Given the description of an element on the screen output the (x, y) to click on. 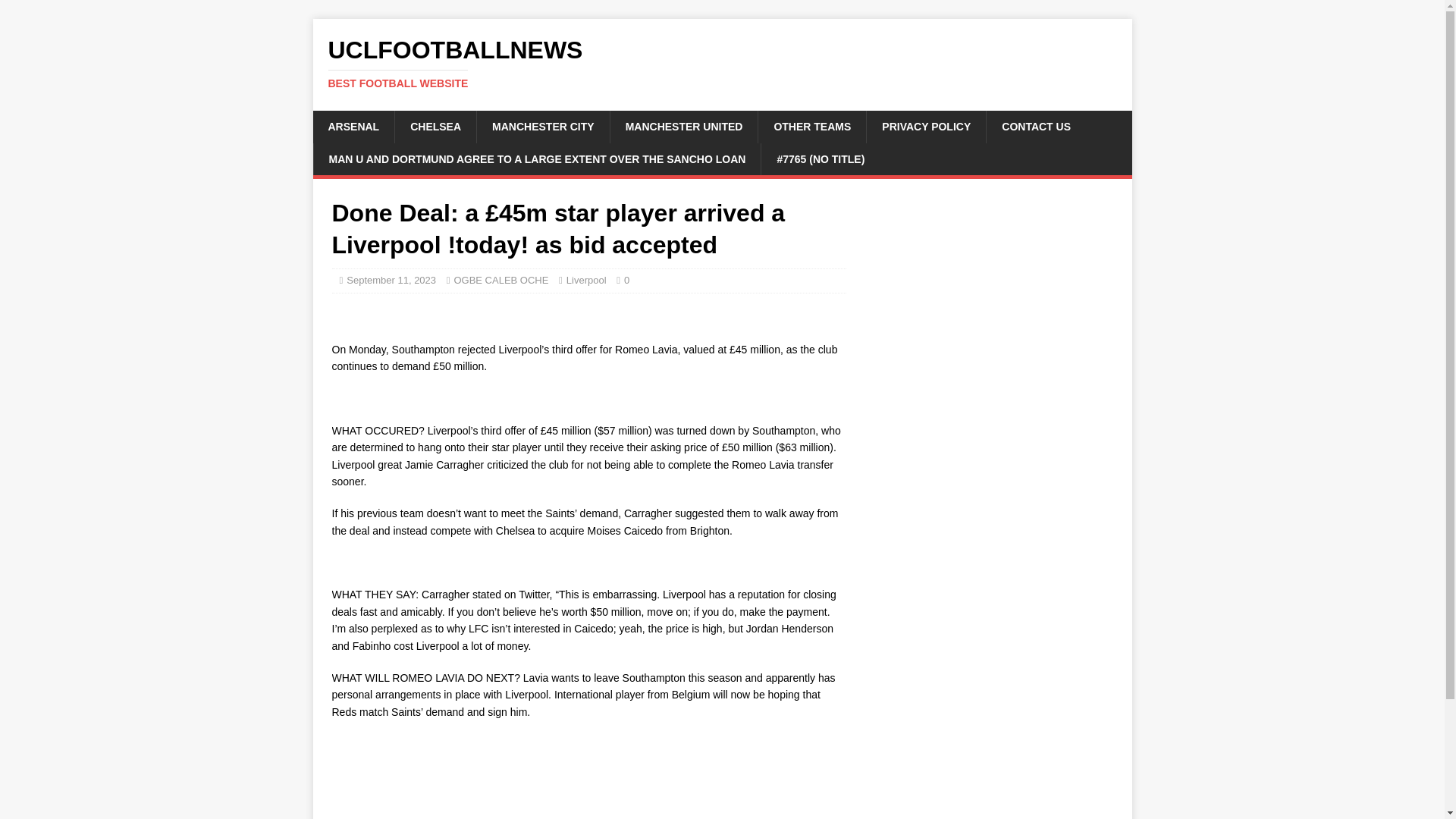
MANCHESTER UNITED (684, 126)
ARSENAL (353, 126)
MANCHESTER CITY (543, 126)
September 11, 2023 (390, 279)
CONTACT US (721, 63)
CHELSEA (1035, 126)
Liverpool (435, 126)
uclfootballnews (586, 279)
